Given the description of an element on the screen output the (x, y) to click on. 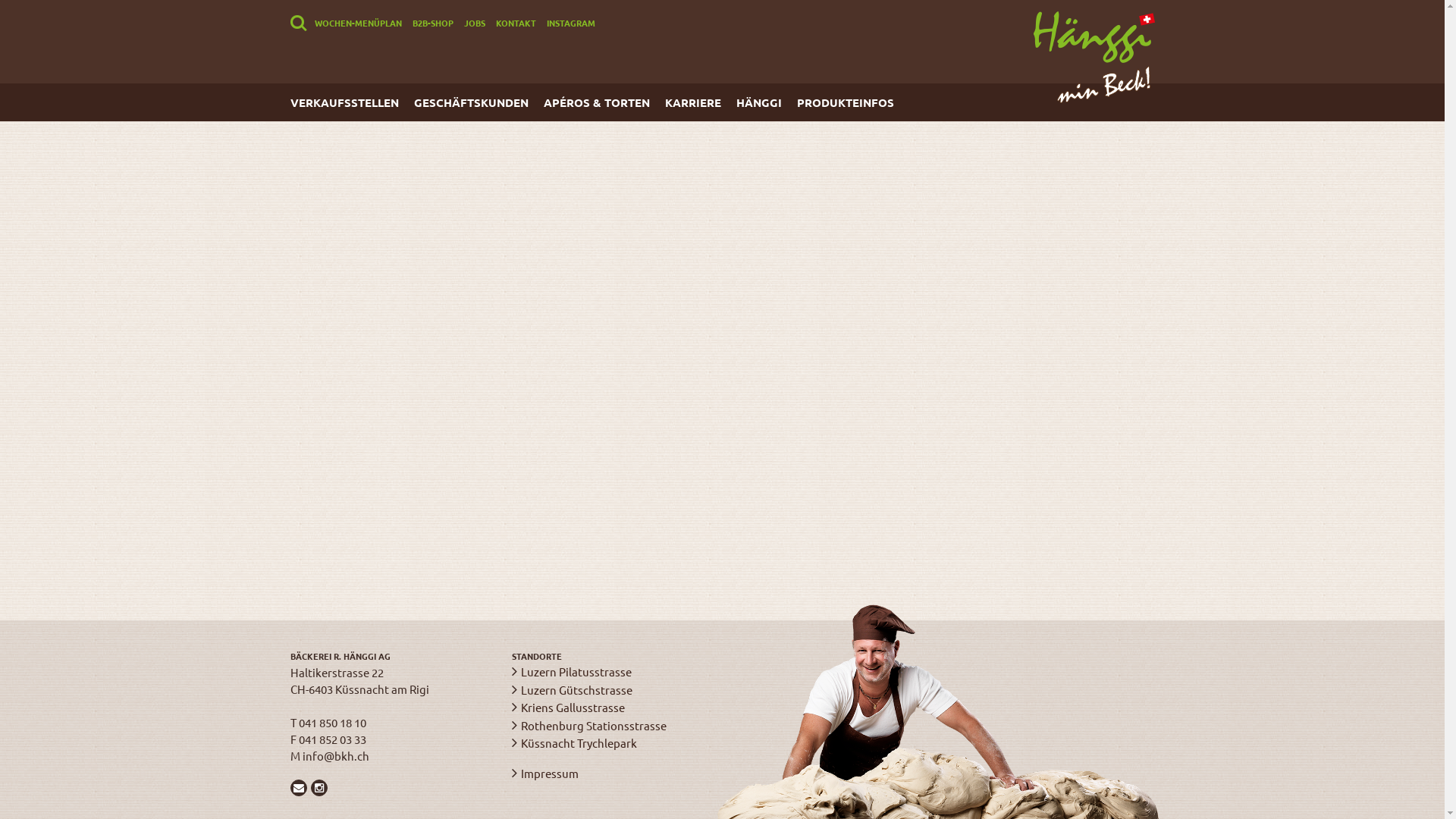
KONTAKT Element type: text (515, 22)
KARRIERE Element type: text (699, 102)
B2B-SHOP Element type: text (432, 22)
Impressum Element type: text (549, 772)
JOBS Element type: text (474, 22)
Rothenburg Stationsstrasse Element type: text (593, 724)
PRODUKTEINFOS Element type: text (852, 102)
Kriens Gallusstrasse Element type: text (572, 706)
VERKAUFSSTELLEN Element type: text (351, 102)
Luzern Pilatusstrasse Element type: text (575, 671)
INSTAGRAM Element type: text (570, 22)
